Given the description of an element on the screen output the (x, y) to click on. 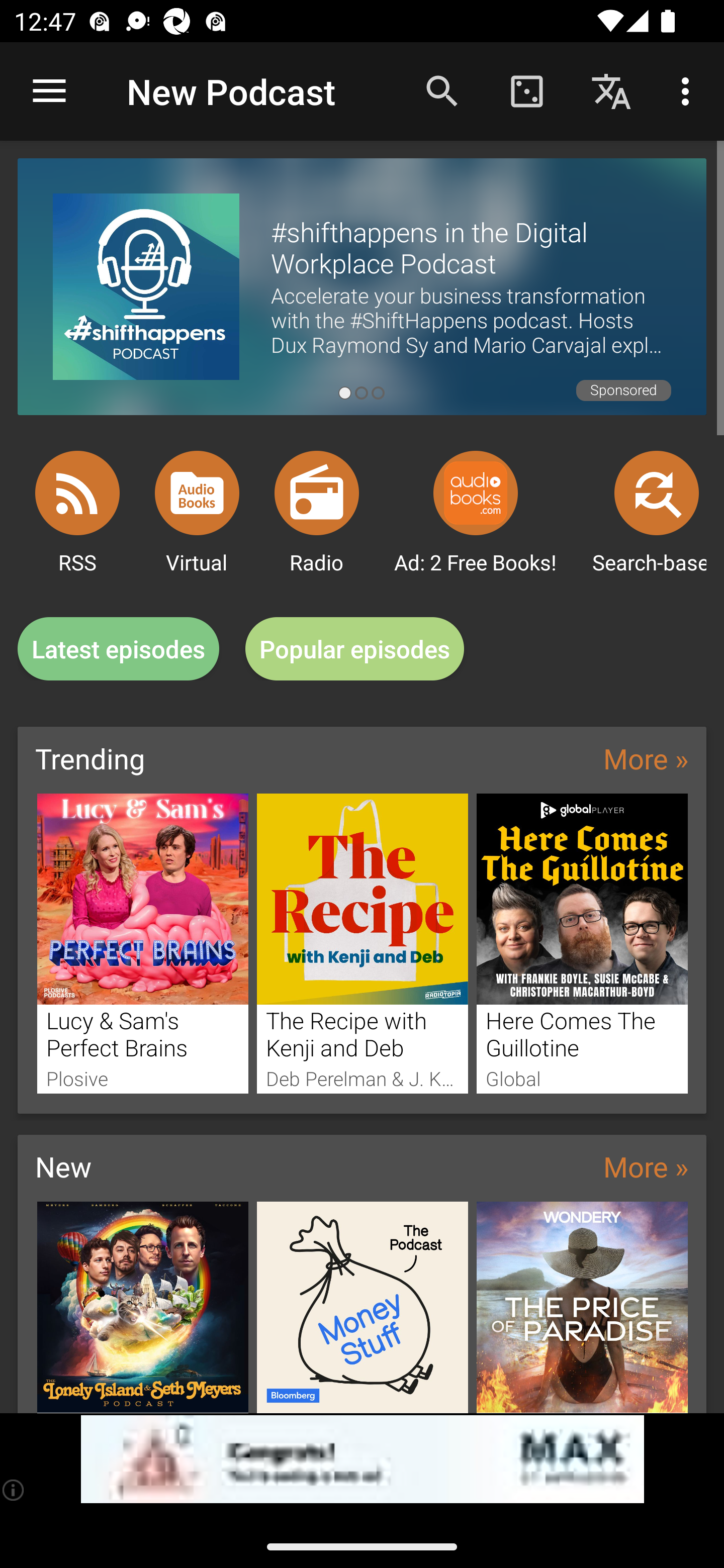
Open navigation sidebar (49, 91)
Search (442, 90)
Random pick (526, 90)
Podcast languages (611, 90)
More options (688, 90)
RSS (77, 492)
Virtual (196, 492)
Radio (316, 492)
Search-based (656, 492)
Latest episodes (118, 648)
Popular episodes (354, 648)
More » (645, 757)
Lucy & Sam's Perfect Brains Plosive (142, 942)
Here Comes The Guillotine Global (581, 942)
More » (645, 1166)
The Lonely Island and Seth Meyers Podcast (142, 1306)
Money Stuff: The Podcast (362, 1306)
The Price of Paradise (581, 1306)
app-monetization (362, 1459)
(i) (14, 1489)
